Given the description of an element on the screen output the (x, y) to click on. 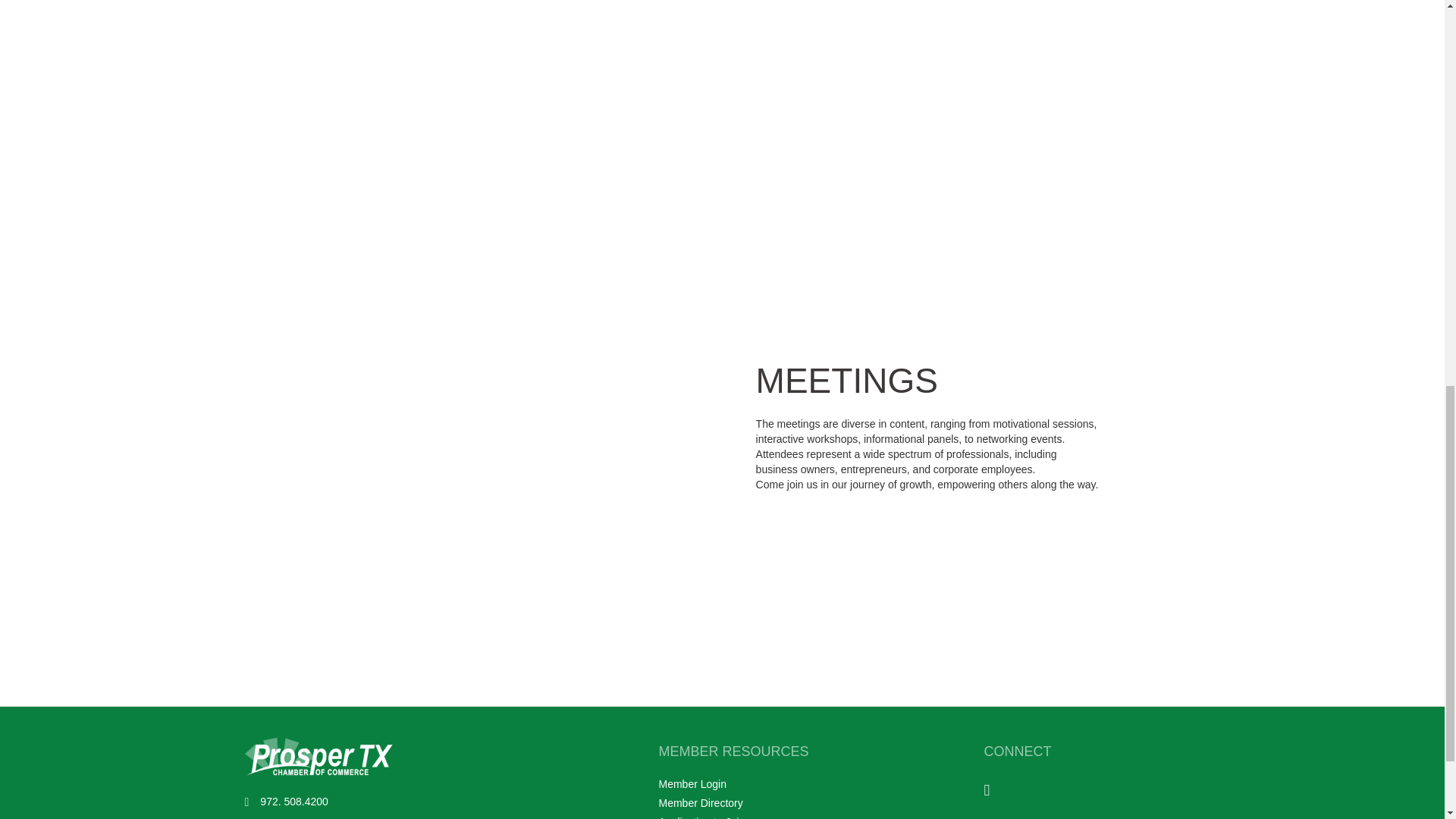
Member Directory (700, 802)
972. 508.4200 (294, 801)
Application to Join (701, 817)
Member Login (692, 784)
